Given the description of an element on the screen output the (x, y) to click on. 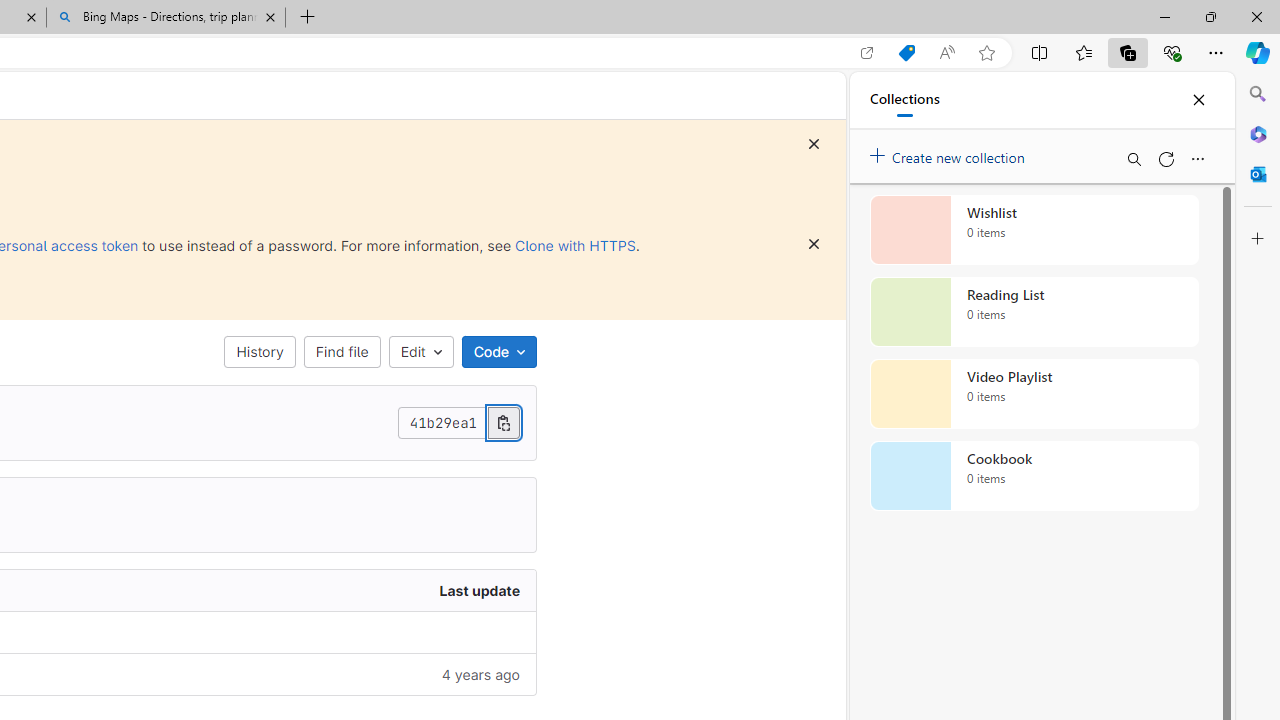
Reading List collection, 0 items (1034, 312)
Copy commit SHA (503, 422)
Outlook (1258, 174)
Edit (420, 351)
